Given the description of an element on the screen output the (x, y) to click on. 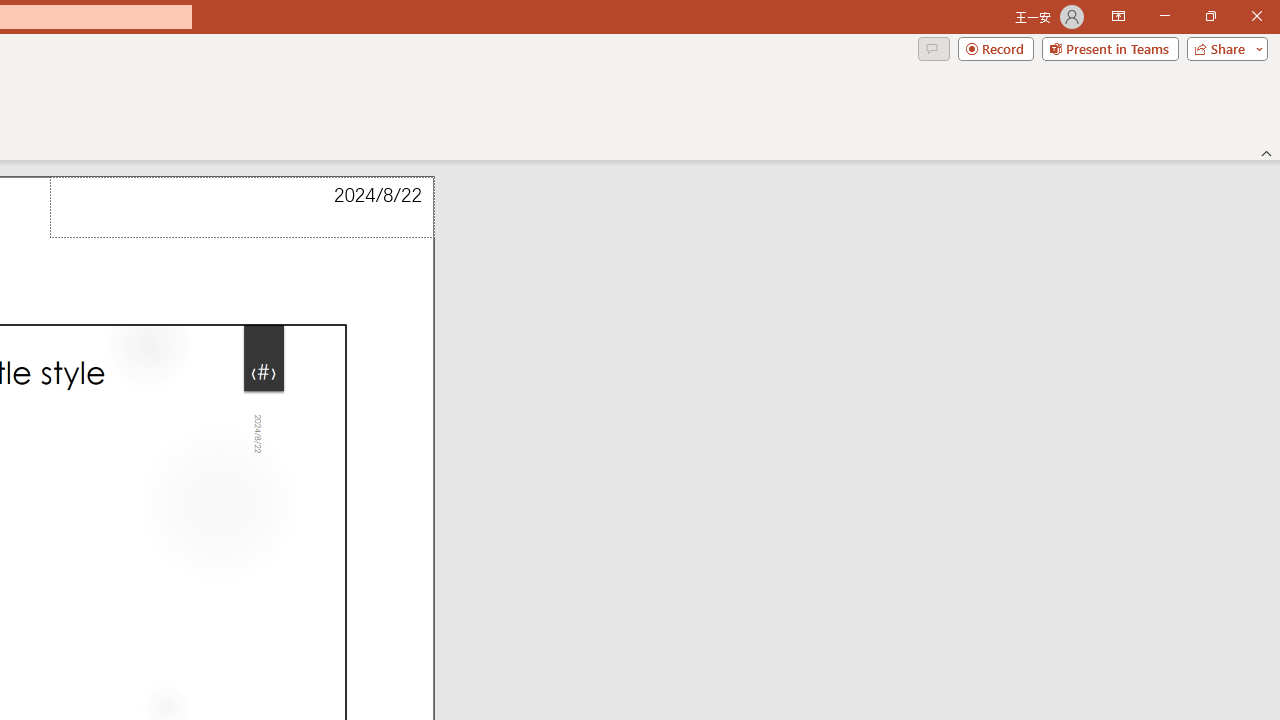
Date (242, 207)
